Given the description of an element on the screen output the (x, y) to click on. 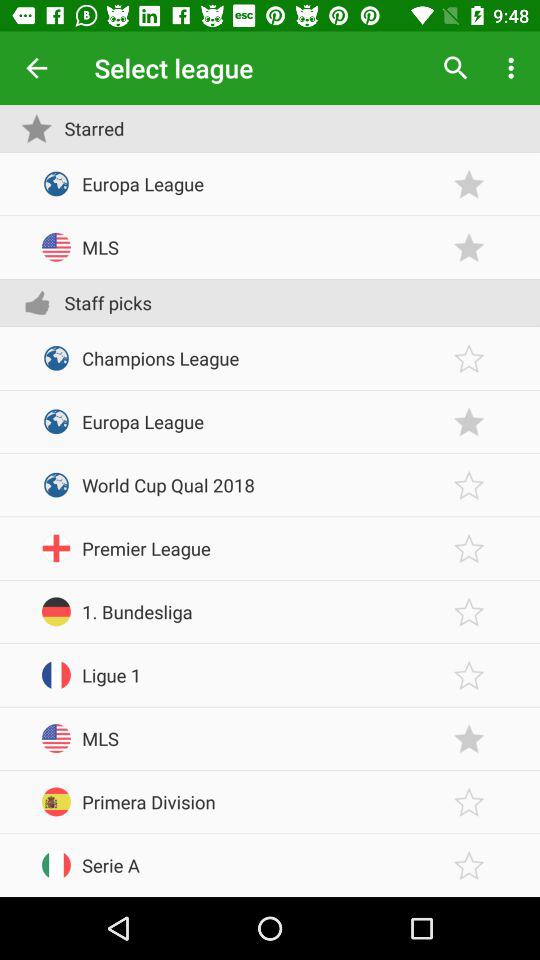
select league (469, 183)
